Given the description of an element on the screen output the (x, y) to click on. 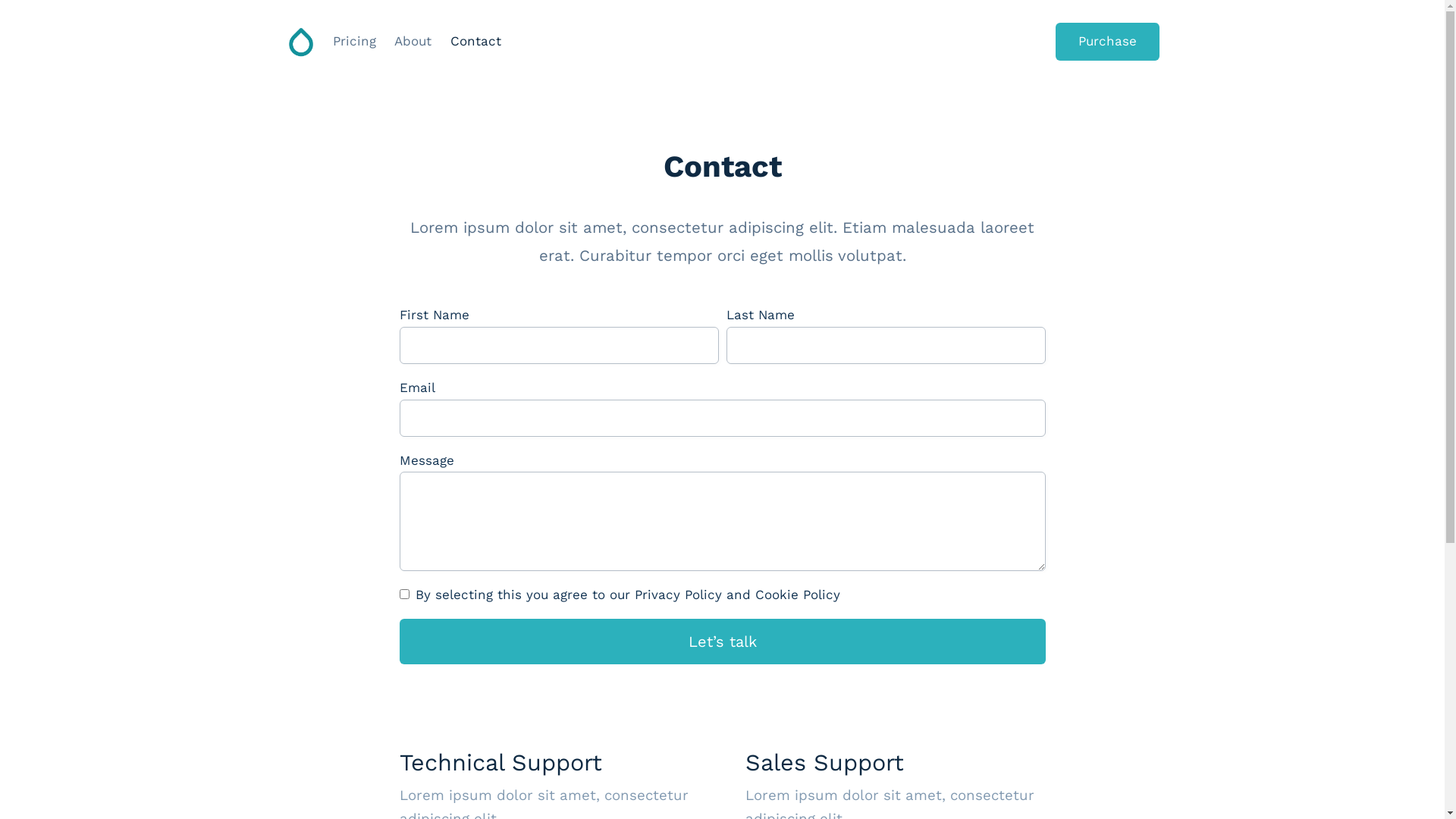
About Element type: text (413, 41)
Pricing Element type: text (354, 41)
Contact Element type: text (476, 41)
Purchase Element type: text (1107, 40)
